Given the description of an element on the screen output the (x, y) to click on. 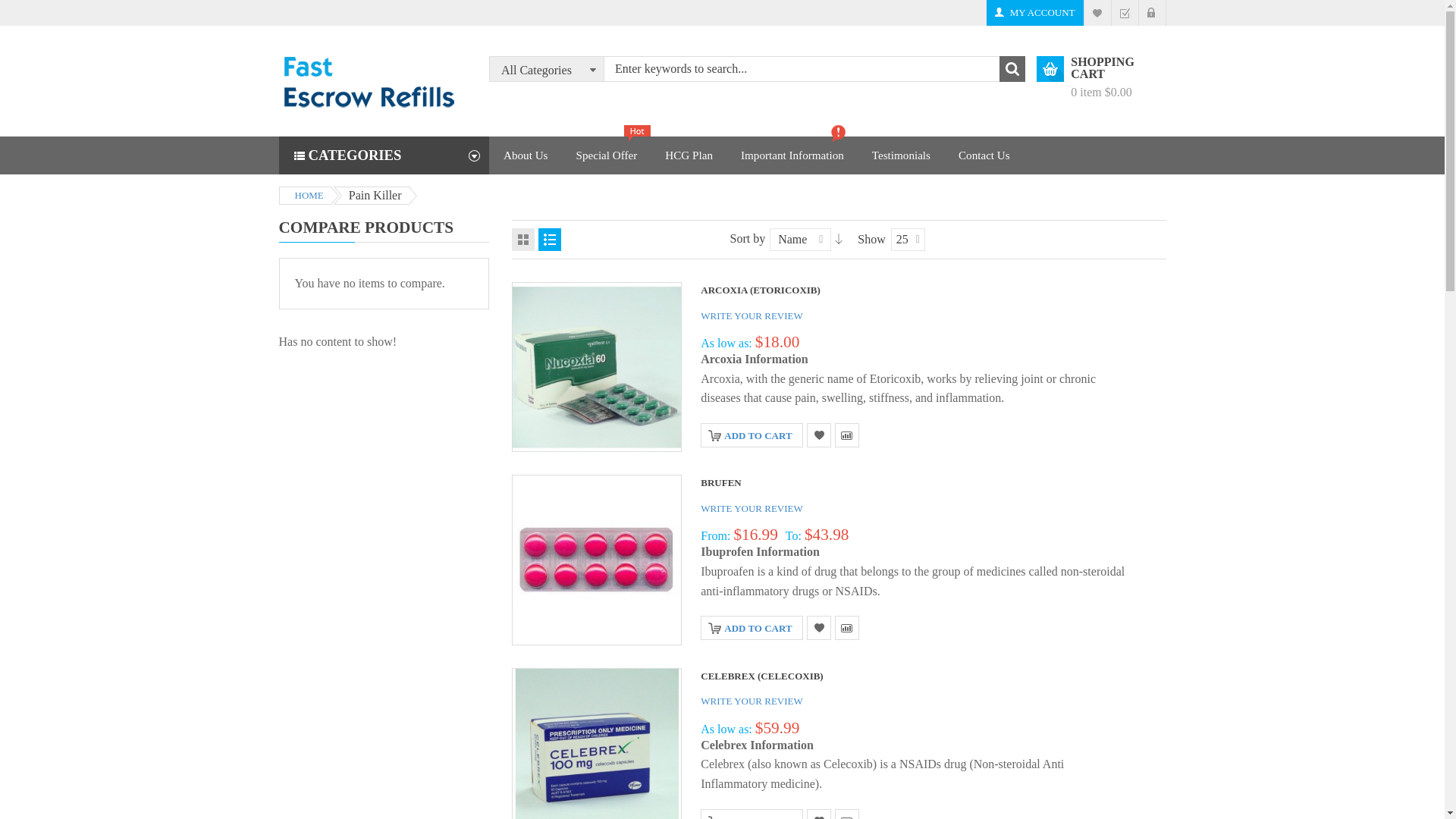
Add to cart (751, 435)
Add to Compare (846, 435)
My Account (1034, 12)
MY ACCOUNT (1034, 12)
Enter keywords to search... (805, 68)
Brufen (596, 559)
Grid (523, 239)
Fast Escrowrefills (368, 79)
List (549, 239)
Go to Home Page (304, 195)
Write Your Review (751, 315)
Search (1011, 68)
Add to Wishlist (818, 435)
